Given the description of an element on the screen output the (x, y) to click on. 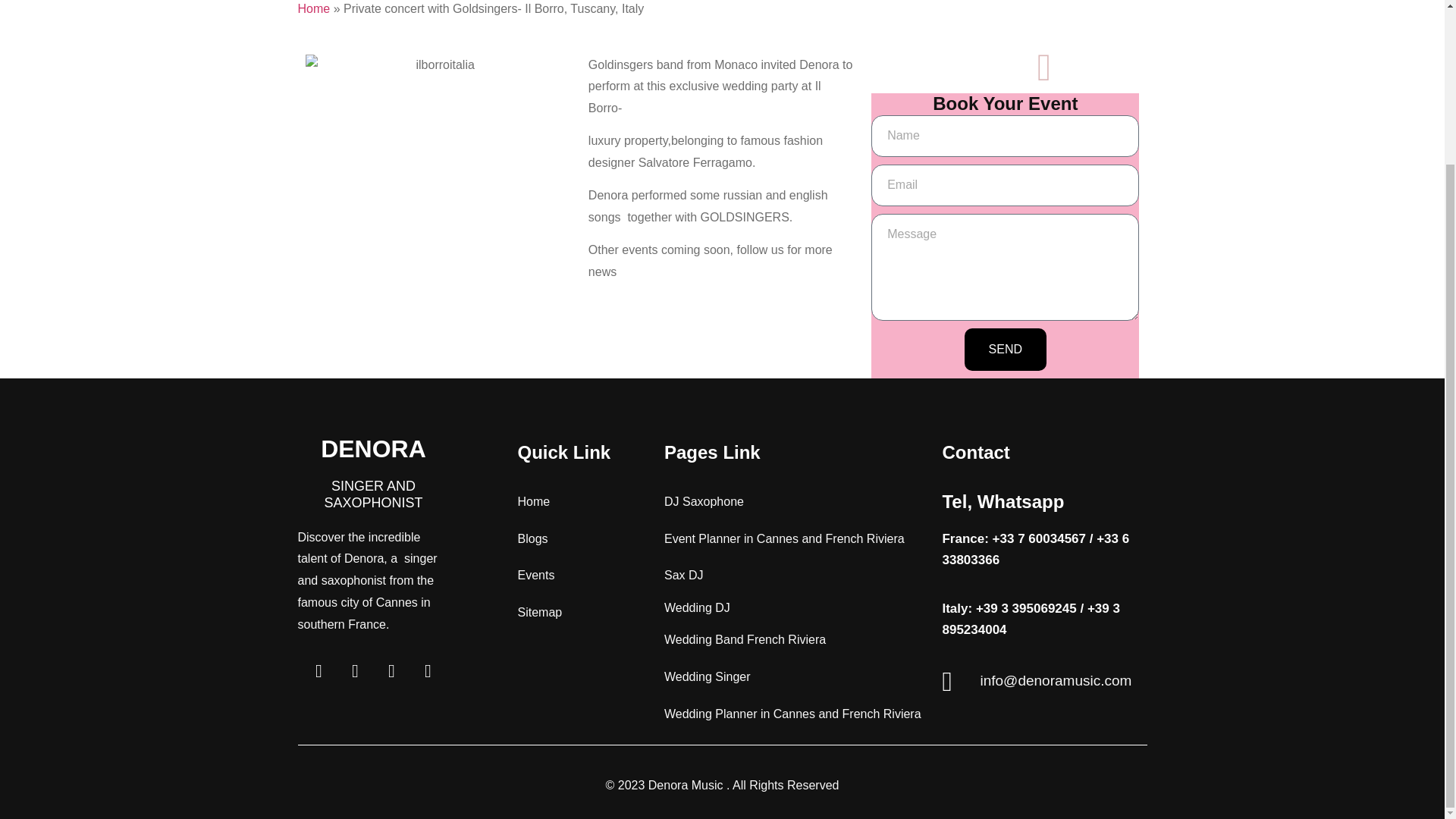
Blogs (531, 538)
Wedding Band French Riviera (744, 639)
Home (533, 501)
Wedding DJ (696, 607)
DJ Saxophone (703, 501)
Event Planner in Cannes and French Riviera (783, 538)
Home (313, 8)
Wedding Singer (707, 676)
Sitemap (539, 612)
SEND (1004, 349)
